Given the description of an element on the screen output the (x, y) to click on. 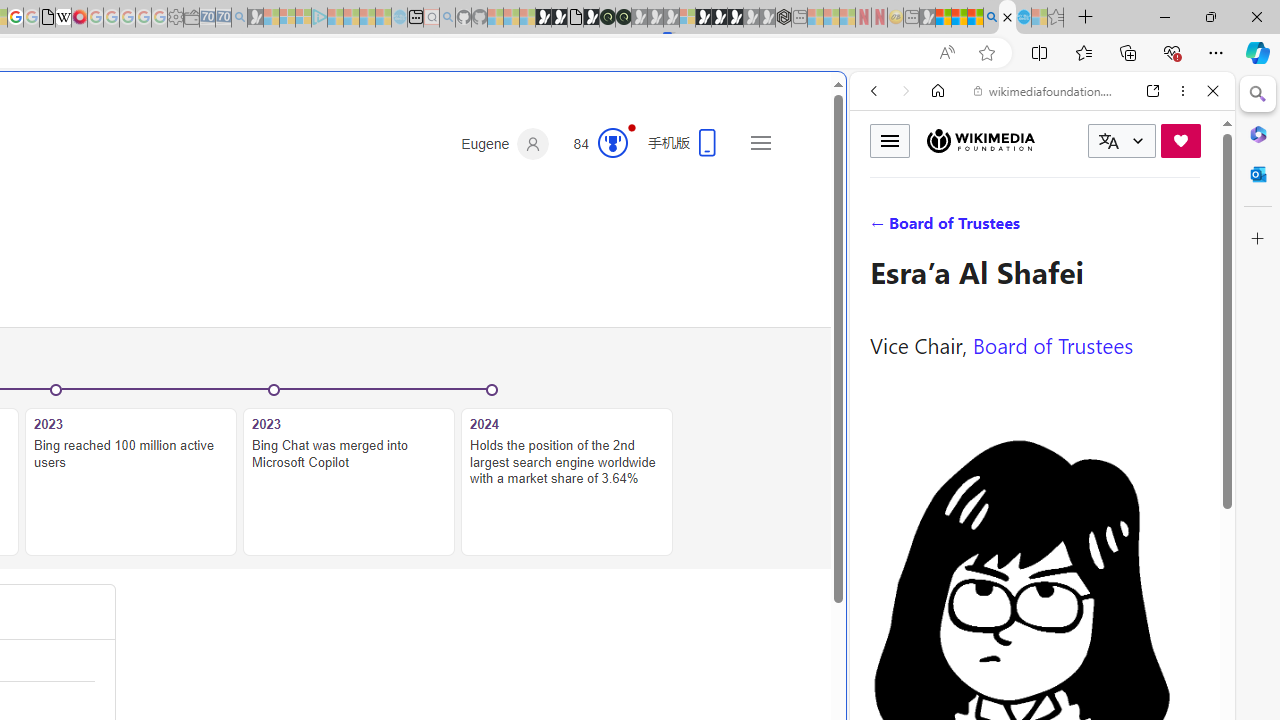
Forward (906, 91)
2023Bing reached 100 million active users (130, 471)
WEB   (882, 228)
Bing AI - Search (991, 17)
Services - Maintenance | Sky Blue Bikes - Sky Blue Bikes (1023, 17)
wikimediafoundation.org (1045, 90)
